Given the description of an element on the screen output the (x, y) to click on. 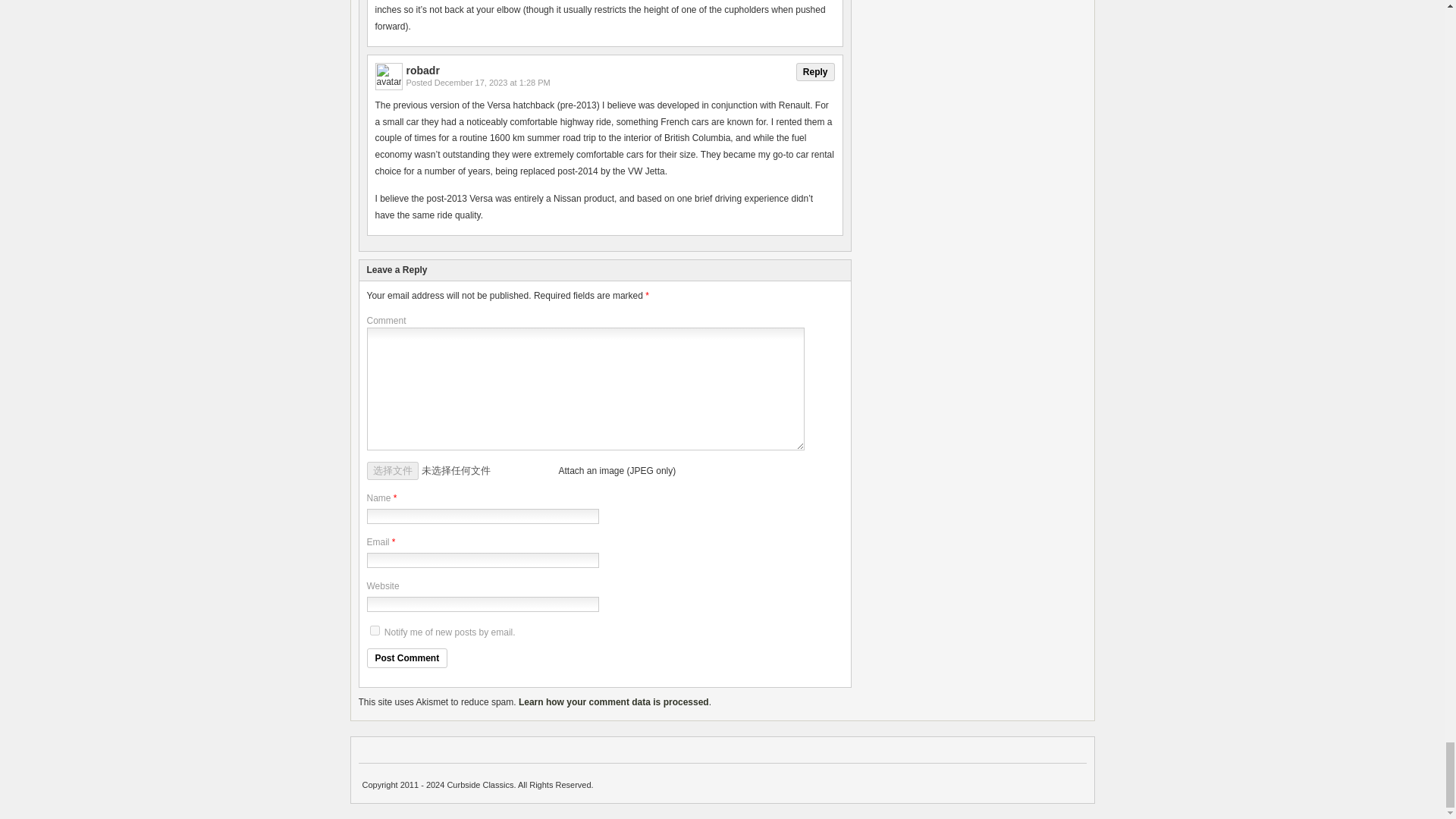
Post Comment (407, 658)
subscribe (374, 630)
